Given the description of an element on the screen output the (x, y) to click on. 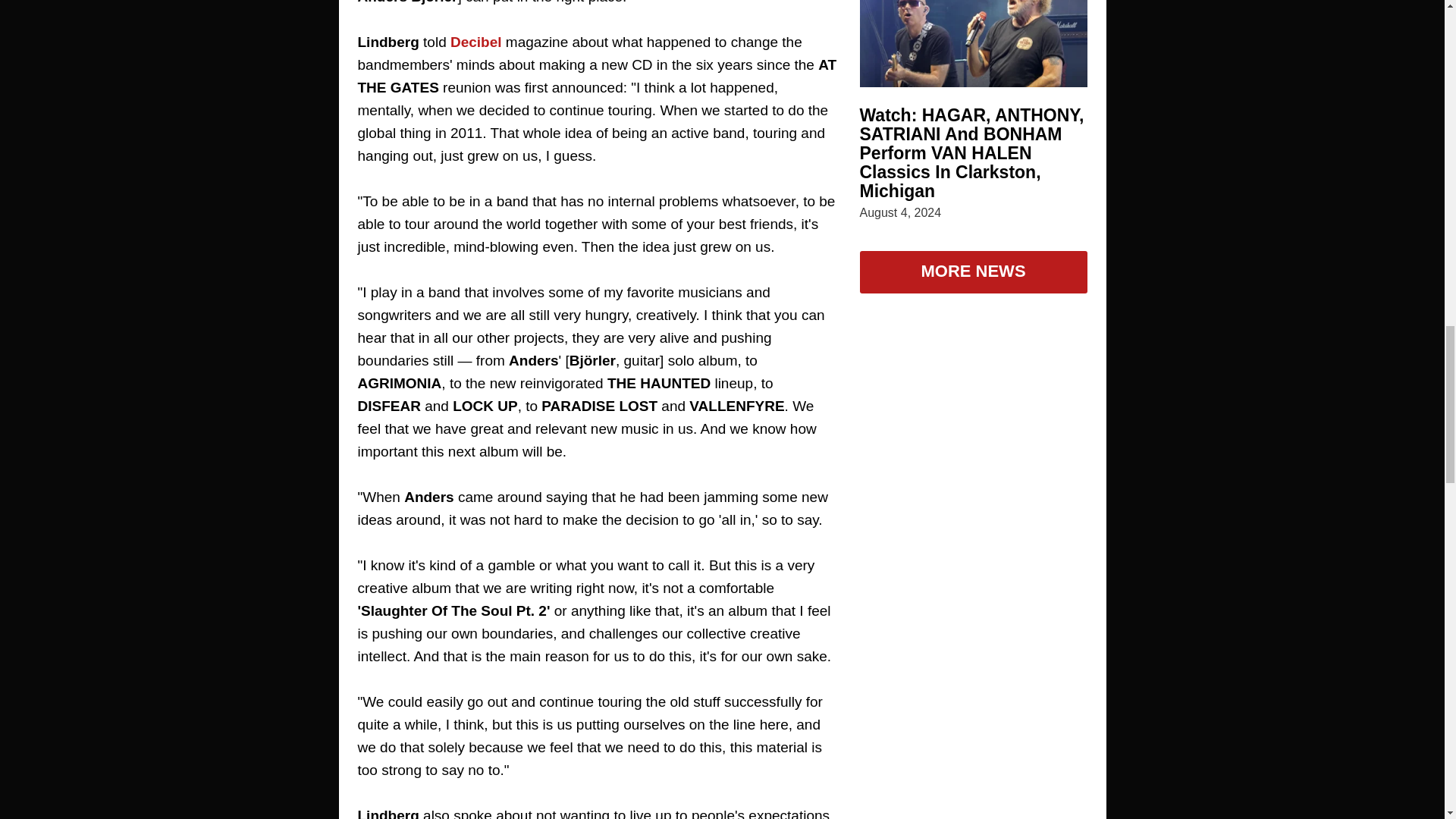
Decibel (475, 41)
